Given the description of an element on the screen output the (x, y) to click on. 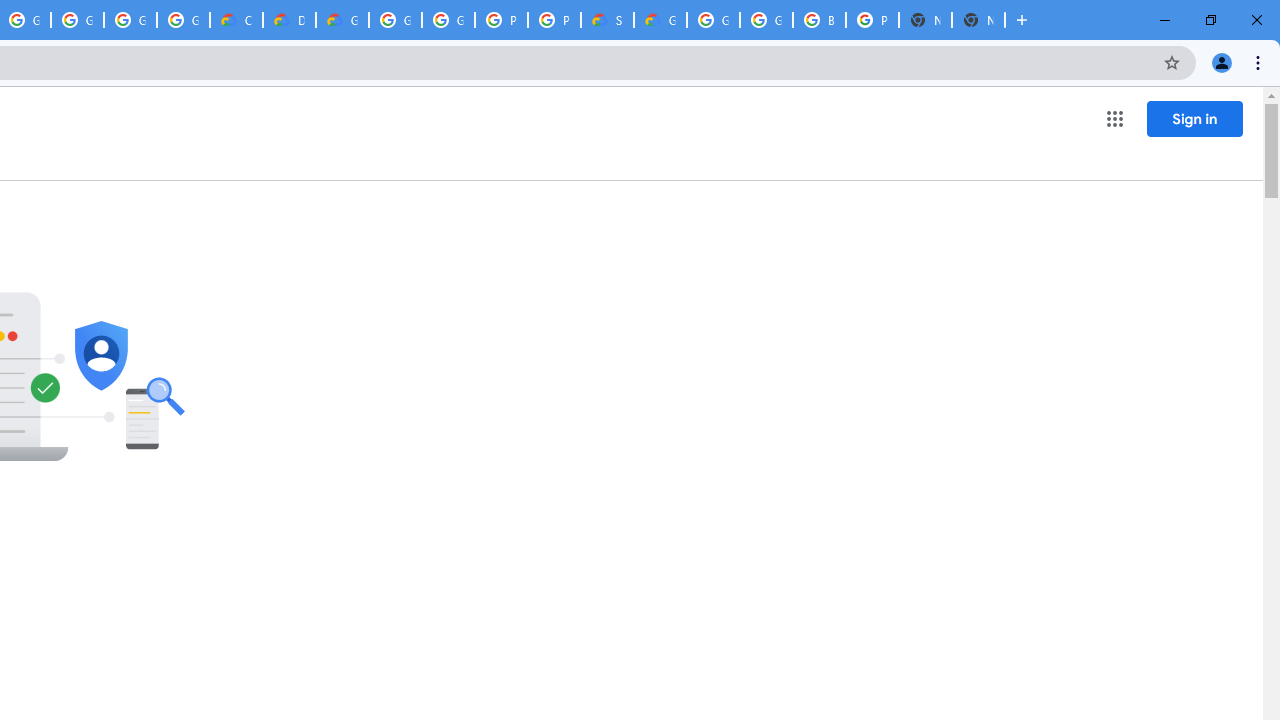
Support Hub | Google Cloud (607, 20)
Gemini for Business and Developers | Google Cloud (342, 20)
Google Cloud Platform (766, 20)
Google Workspace - Specific Terms (130, 20)
